Given the description of an element on the screen output the (x, y) to click on. 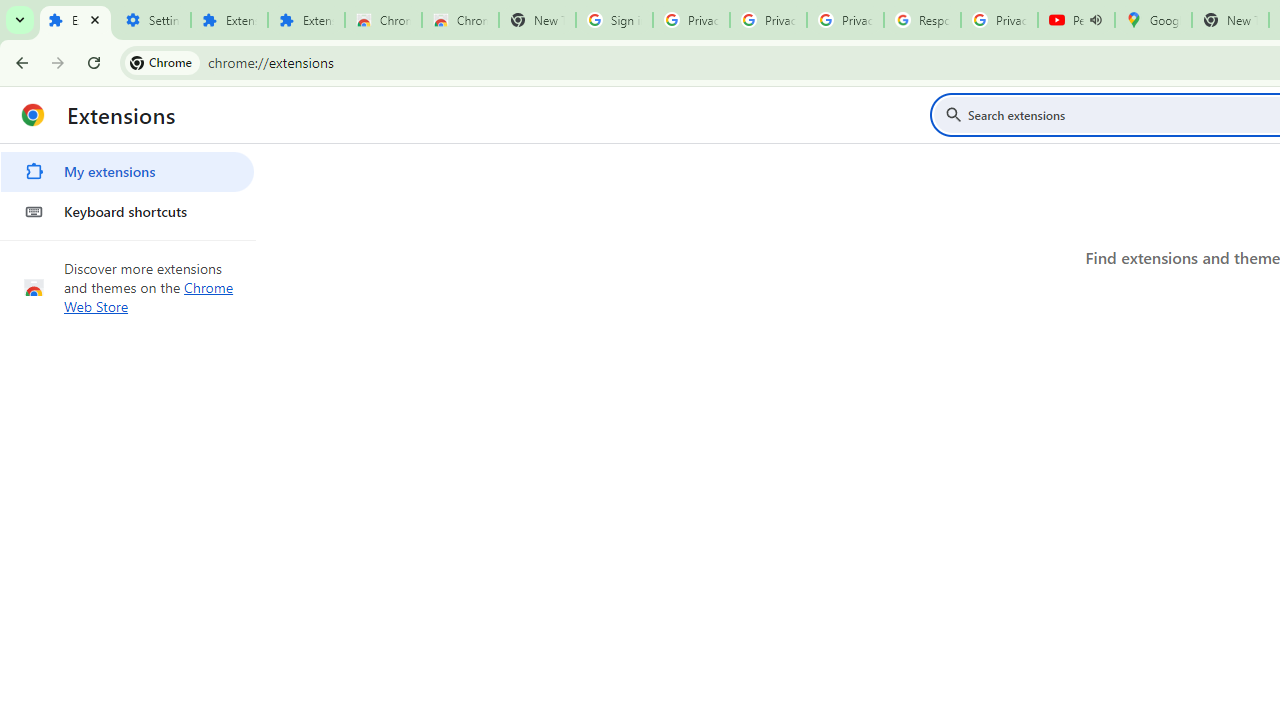
AutomationID: sectionMenu (128, 187)
Chrome Web Store - Themes (460, 20)
Chrome Web Store (149, 296)
New Tab (1229, 20)
Google Maps (1152, 20)
Settings (151, 20)
Chrome Web Store (383, 20)
Extensions (306, 20)
